Given the description of an element on the screen output the (x, y) to click on. 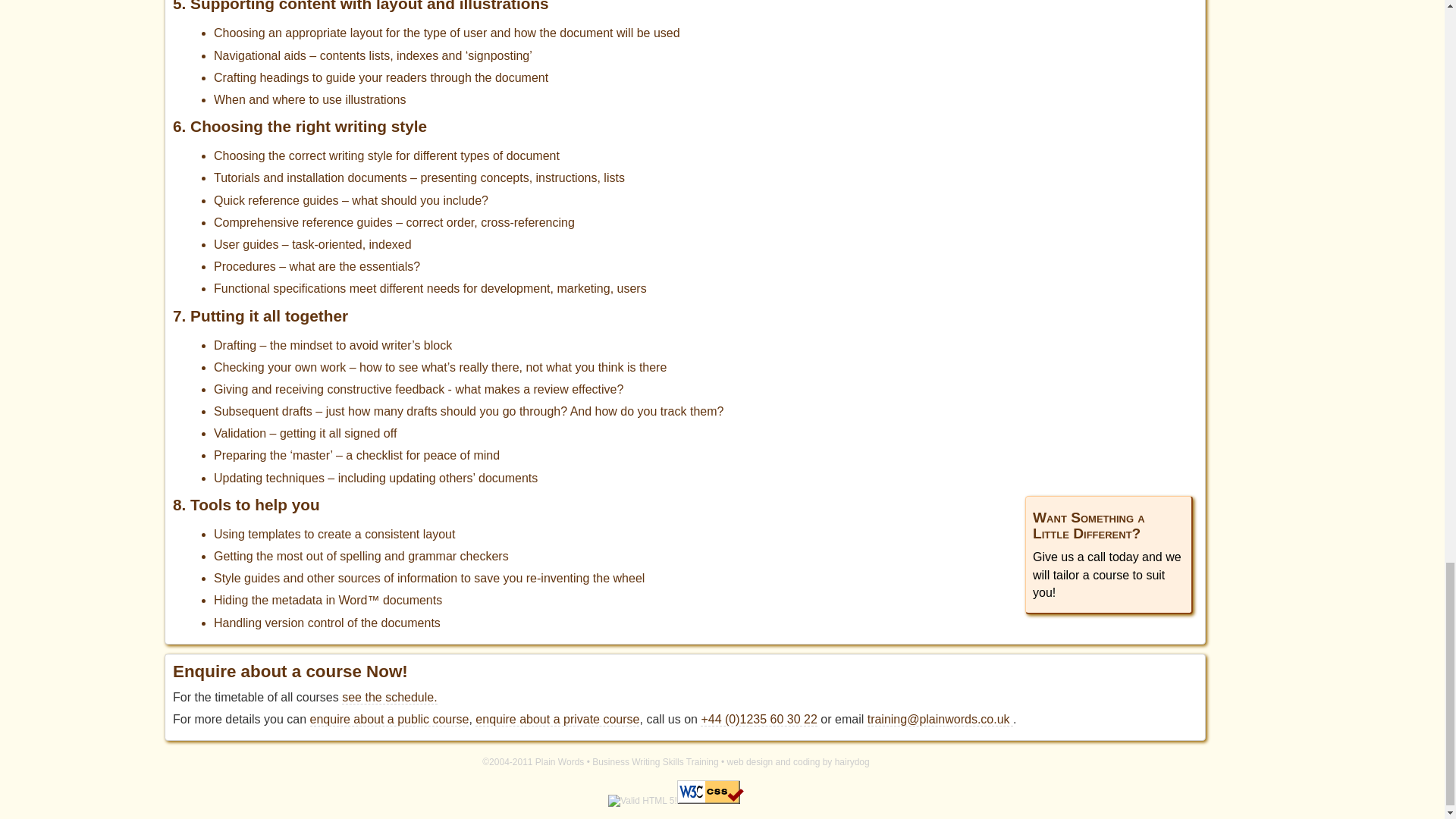
Business Writing Skills Training (655, 761)
see the schedule. (389, 697)
enquire about a private course (557, 719)
enquire about a public course (389, 719)
web design and coding by hairydog (797, 761)
hairydog - website specialists, web designers (797, 761)
